Given the description of an element on the screen output the (x, y) to click on. 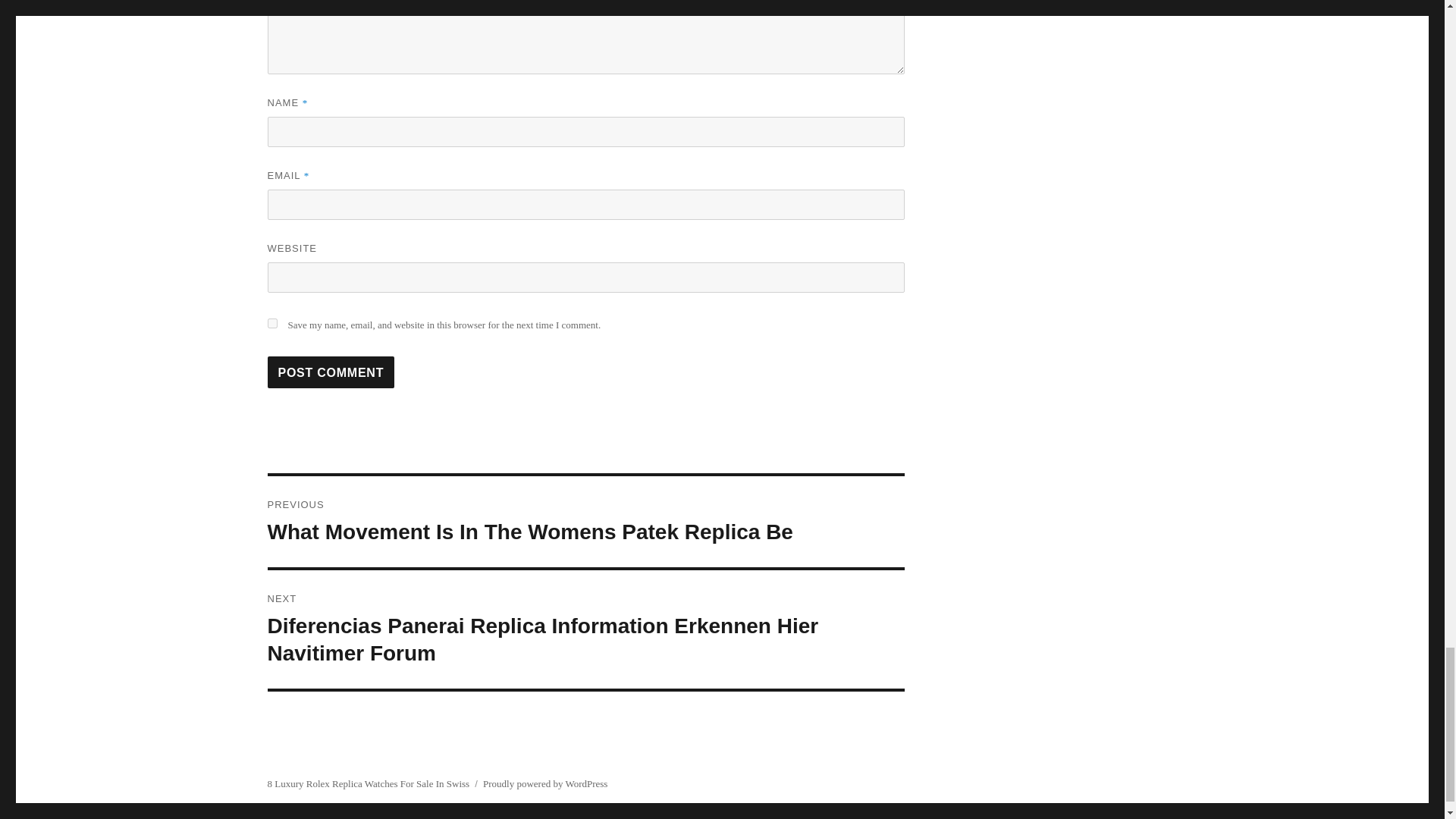
Post Comment (330, 372)
yes (271, 323)
Post Comment (330, 372)
